Given the description of an element on the screen output the (x, y) to click on. 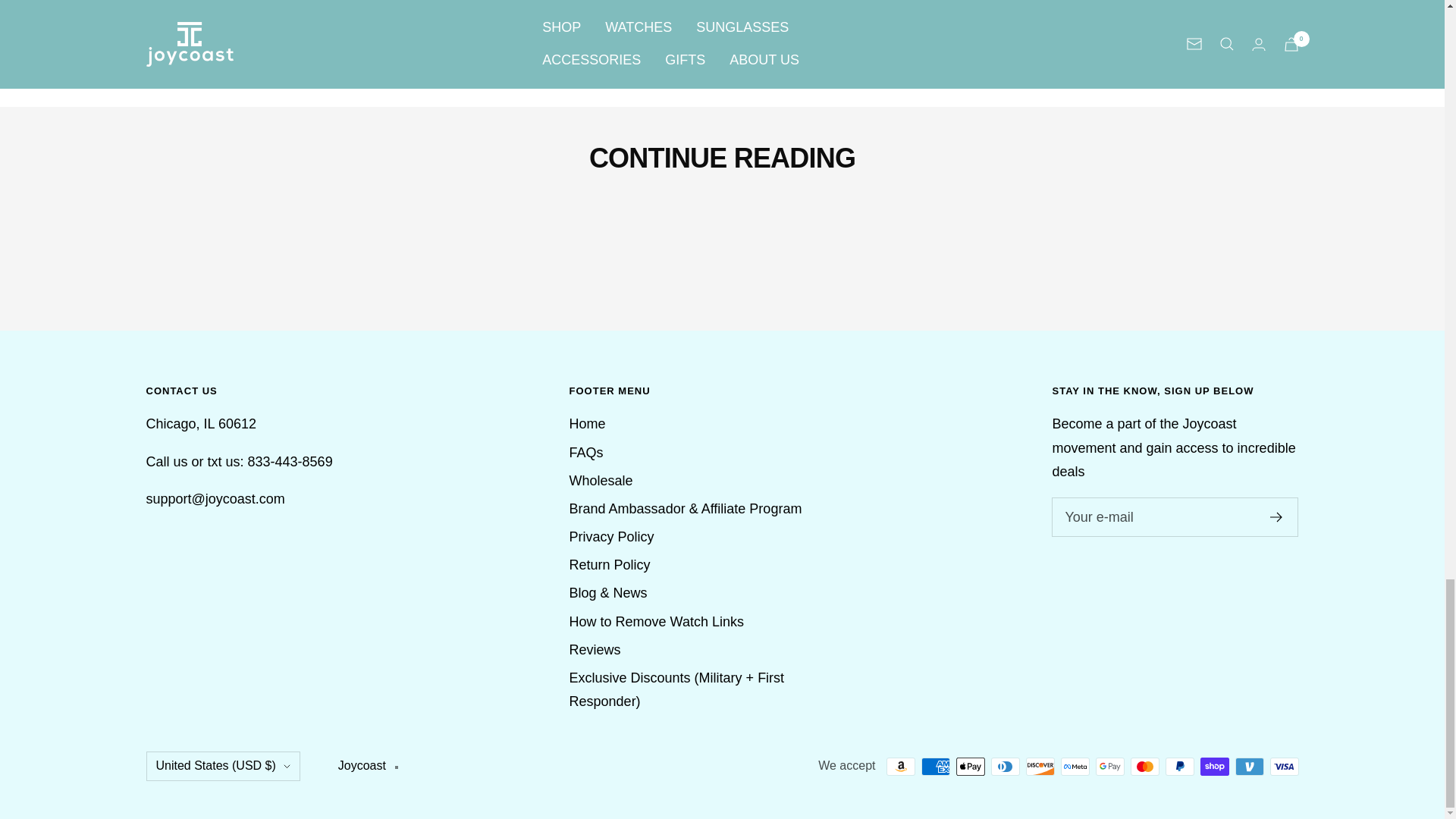
Engraved Wooden Watches (713, 22)
Register (1275, 516)
engraved wooden watches (713, 22)
